Given the description of an element on the screen output the (x, y) to click on. 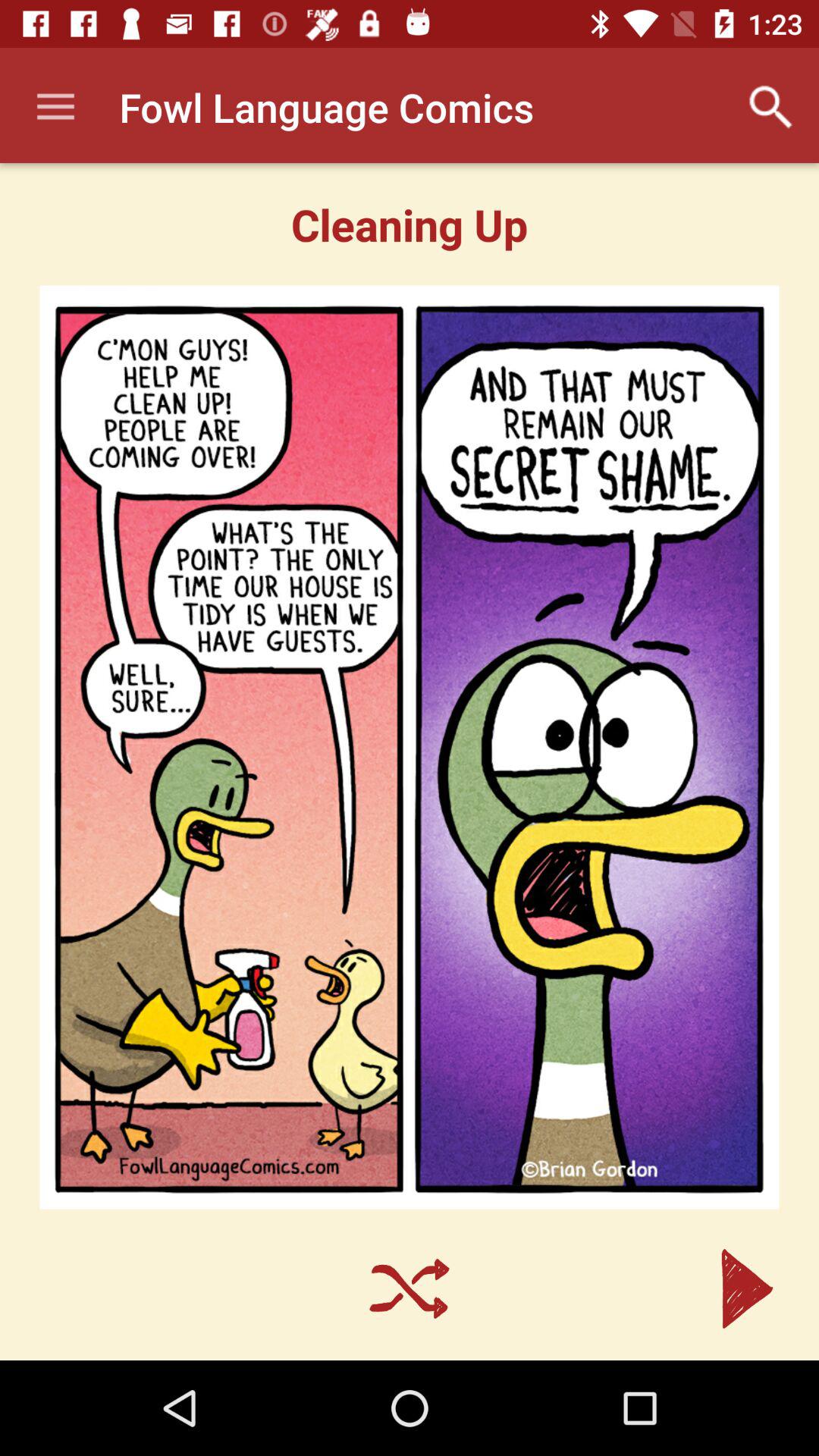
tap icon at the bottom right corner (747, 1288)
